Given the description of an element on the screen output the (x, y) to click on. 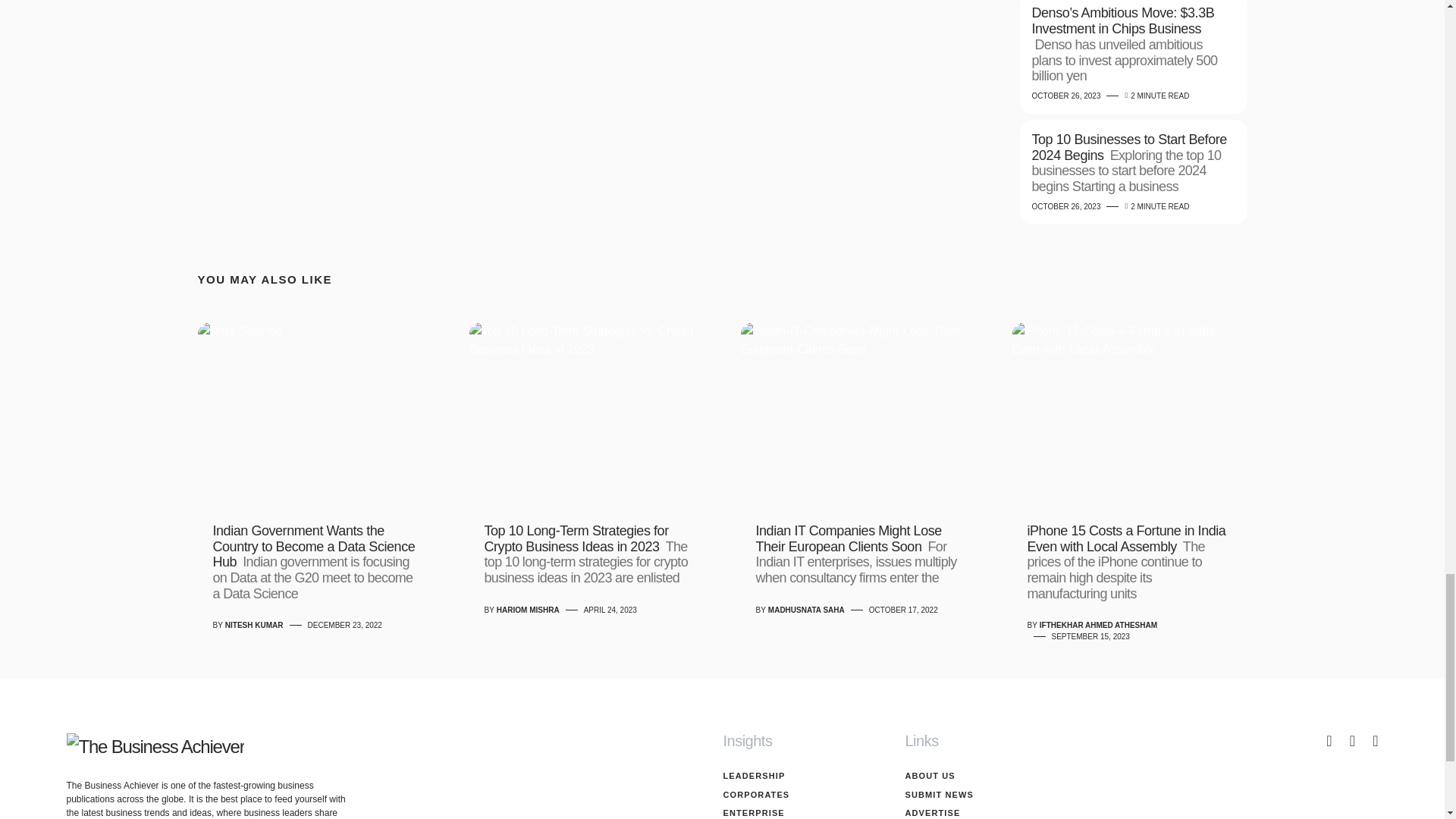
View all posts by Ifthekhar Ahmed Athesham (1098, 624)
View all posts by Hariom Mishra (527, 609)
View all posts by Madhusnata Saha (806, 609)
View all posts by Nitesh Kumar (254, 624)
